Given the description of an element on the screen output the (x, y) to click on. 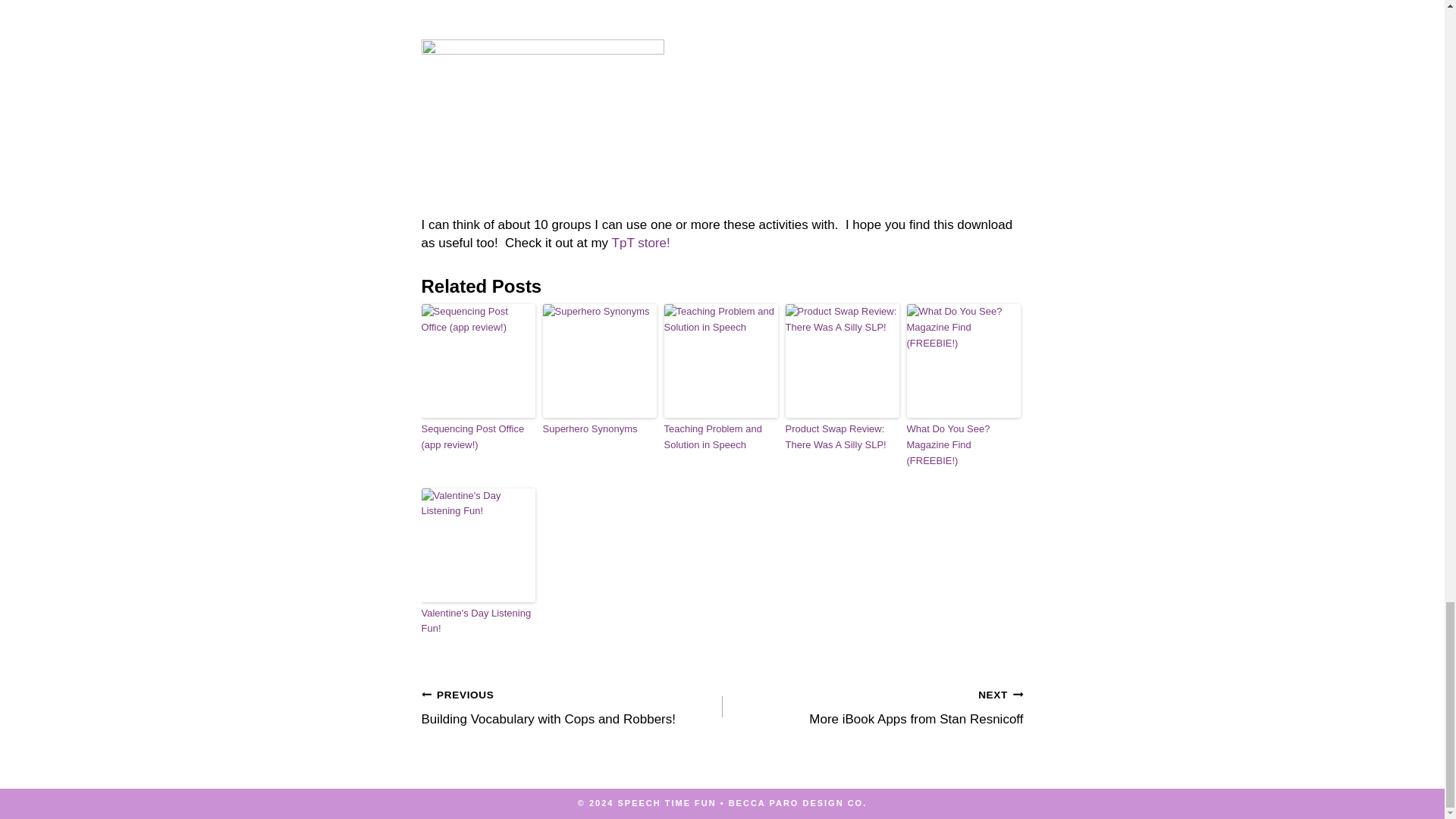
Superhero Synonyms (599, 429)
TpT store! (640, 242)
Product Swap Review: There Was A Silly SLP! (842, 437)
Teaching Problem and Solution in Speech (720, 437)
